Given the description of an element on the screen output the (x, y) to click on. 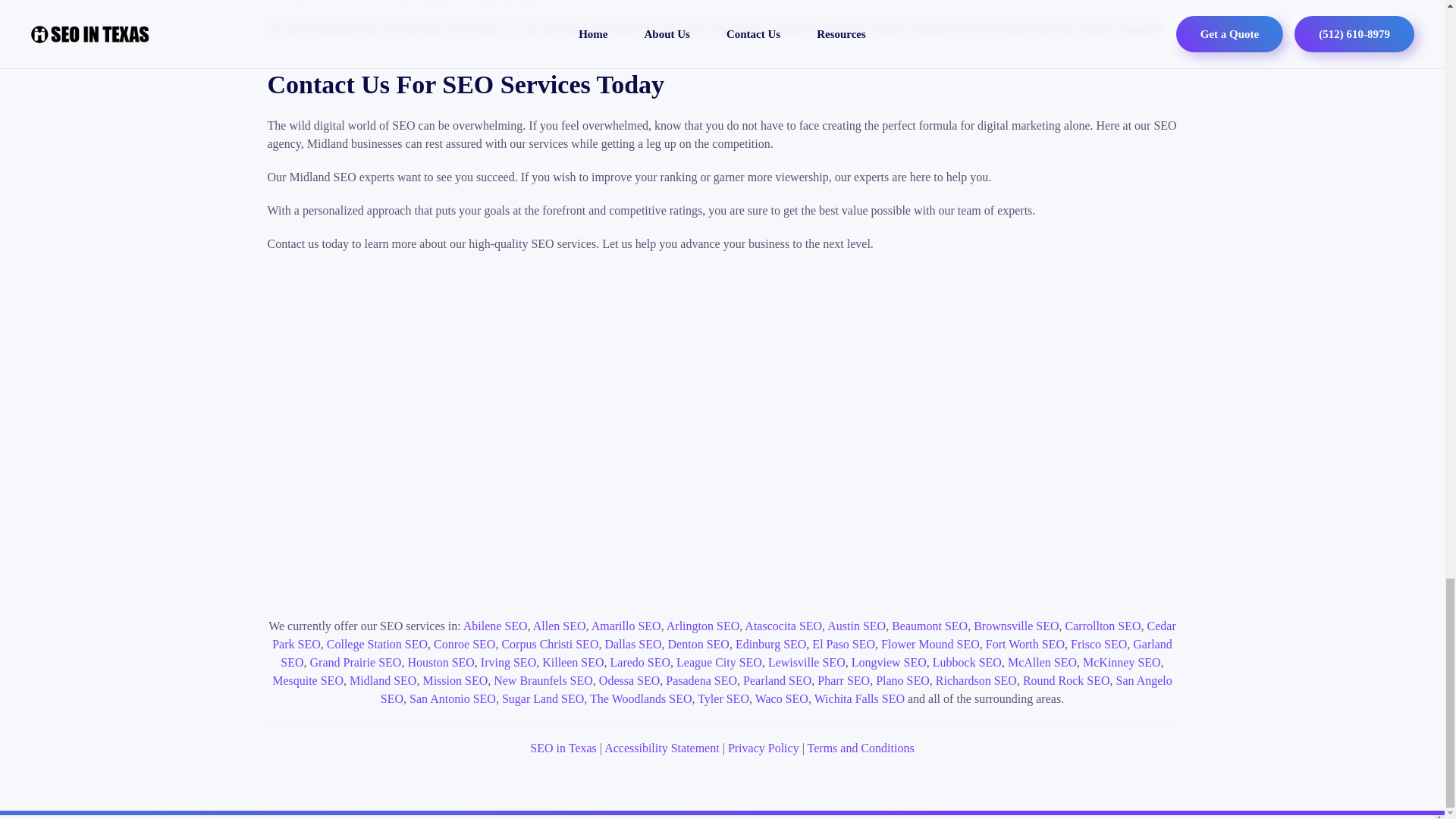
Beaumont SEO (929, 625)
Conroe SEO (464, 644)
Abilene SEO (495, 625)
Allen SEO (559, 625)
Dallas SEO (632, 644)
Atascocita SEO (783, 625)
El Paso SEO (843, 644)
Amarillo SEO (626, 625)
Denton SEO (698, 644)
Edinburg SEO (770, 644)
College Station SEO (377, 644)
Austin SEO (856, 625)
Brownsville SEO (1016, 625)
Corpus Christi SEO (549, 644)
Arlington SEO (702, 625)
